Given the description of an element on the screen output the (x, y) to click on. 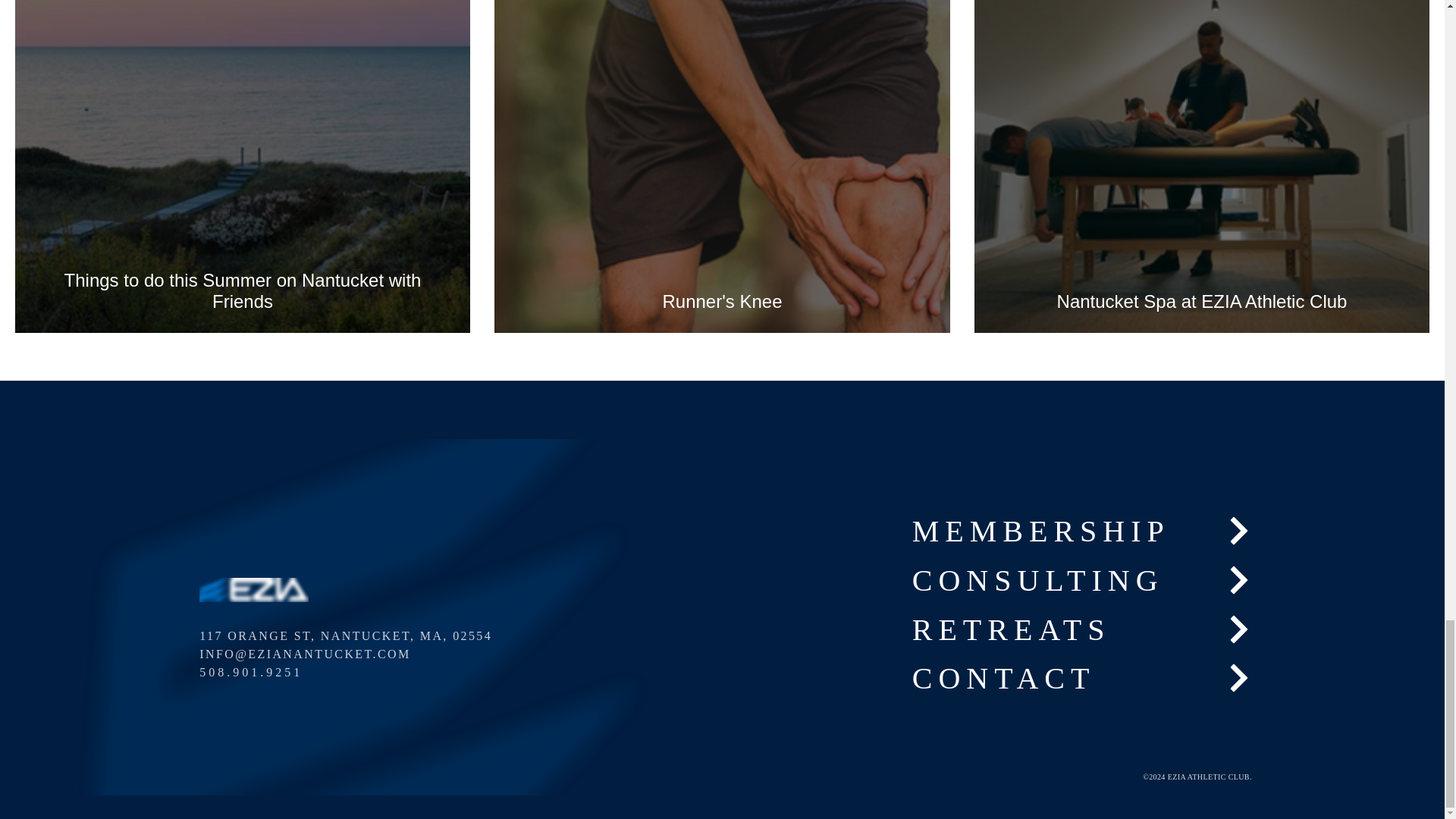
Nantucket Spa at EZIA Athletic Club (1201, 301)
117 ORANGE ST, NANTUCKET, MA, 02554 (363, 636)
Runner's Knee (721, 301)
CONTACT (1082, 678)
RETREATS (1082, 629)
MEMBERSHIP (1082, 530)
508.901.9251 (355, 672)
CONSULTING (1082, 579)
Things to do this Summer on Nantucket with Friends (242, 290)
